Given the description of an element on the screen output the (x, y) to click on. 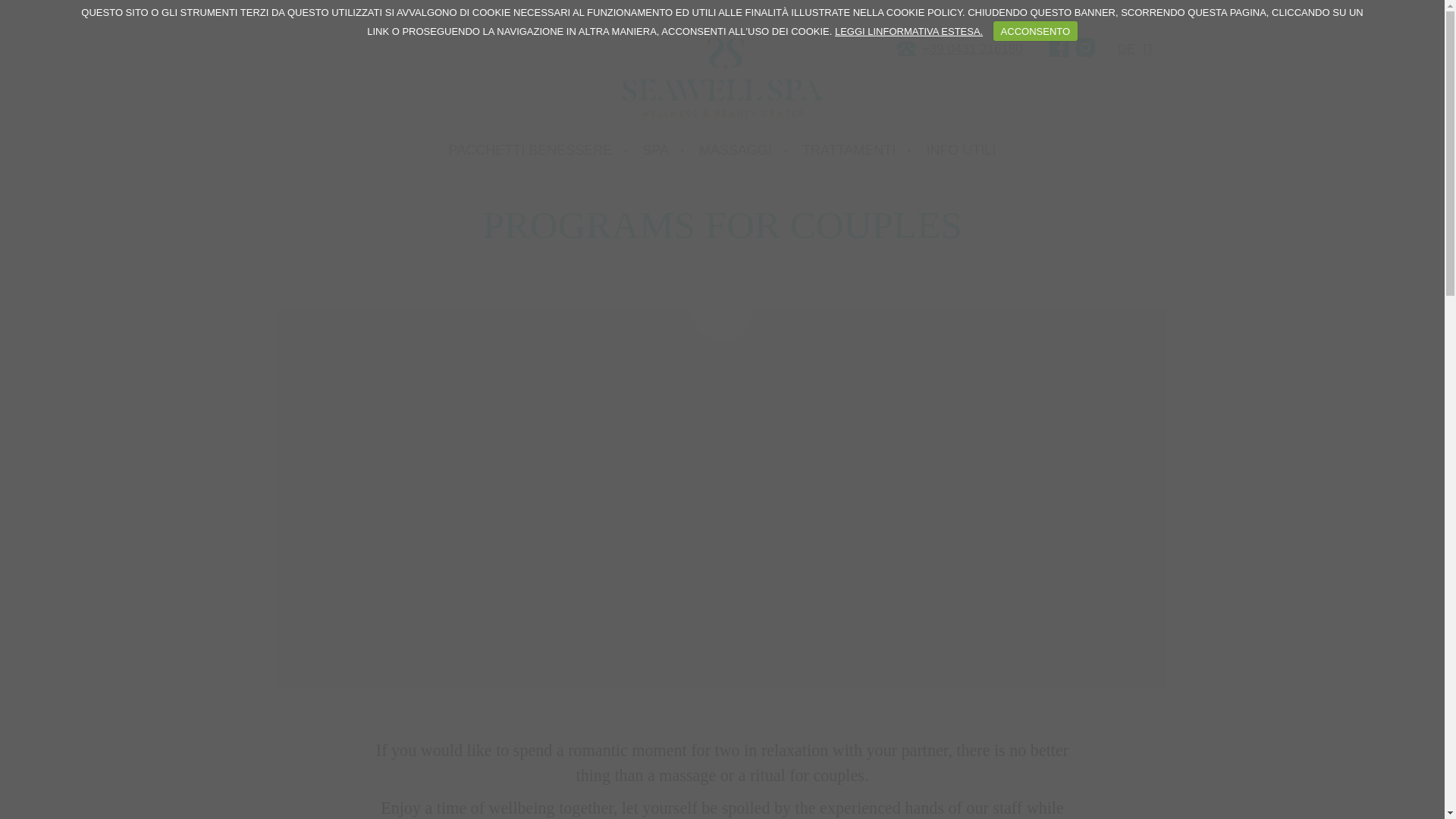
LEGGI LINFORMATIVA ESTESA. (908, 30)
PACCHETTI BENESSERE (530, 150)
SPA (655, 150)
TRATTAMENTI (848, 150)
MASSAGGI (734, 150)
INFO UTILI (960, 150)
DE (1126, 47)
ACCONSENTO (1034, 30)
